Given the description of an element on the screen output the (x, y) to click on. 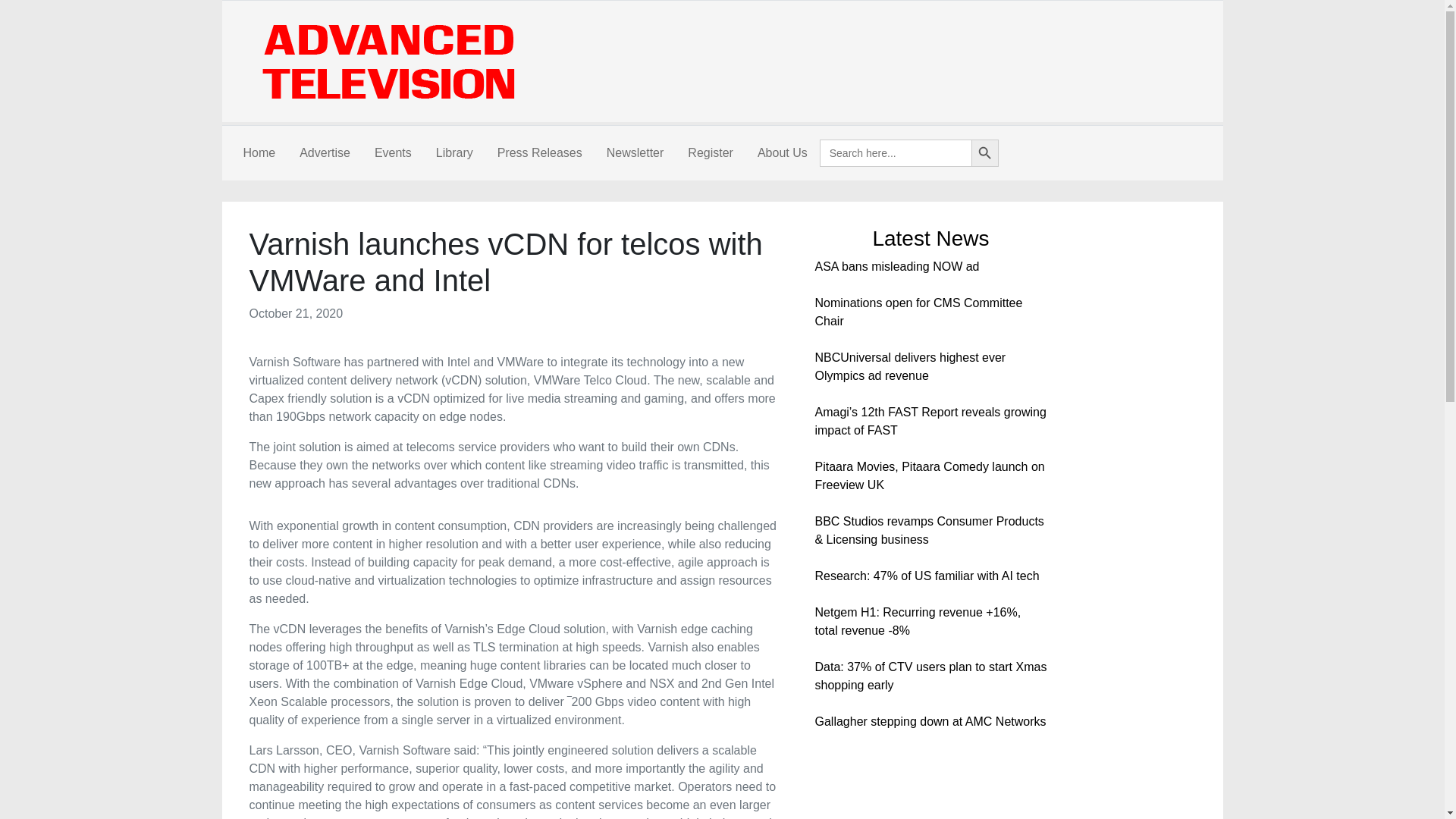
Events (392, 153)
Register (710, 153)
Advertise (324, 153)
Search Button (984, 153)
ASA bans misleading NOW ad (895, 266)
Home (258, 153)
About Us (782, 153)
Pitaara Movies, Pitaara Comedy launch on Freeview UK (928, 475)
Newsletter (635, 153)
Gallagher stepping down at AMC Networks (929, 721)
NBCUniversal delivers highest ever Olympics ad revenue (909, 366)
Nominations open for CMS Committee Chair (917, 311)
Press Releases (539, 153)
Library (453, 153)
